Given the description of an element on the screen output the (x, y) to click on. 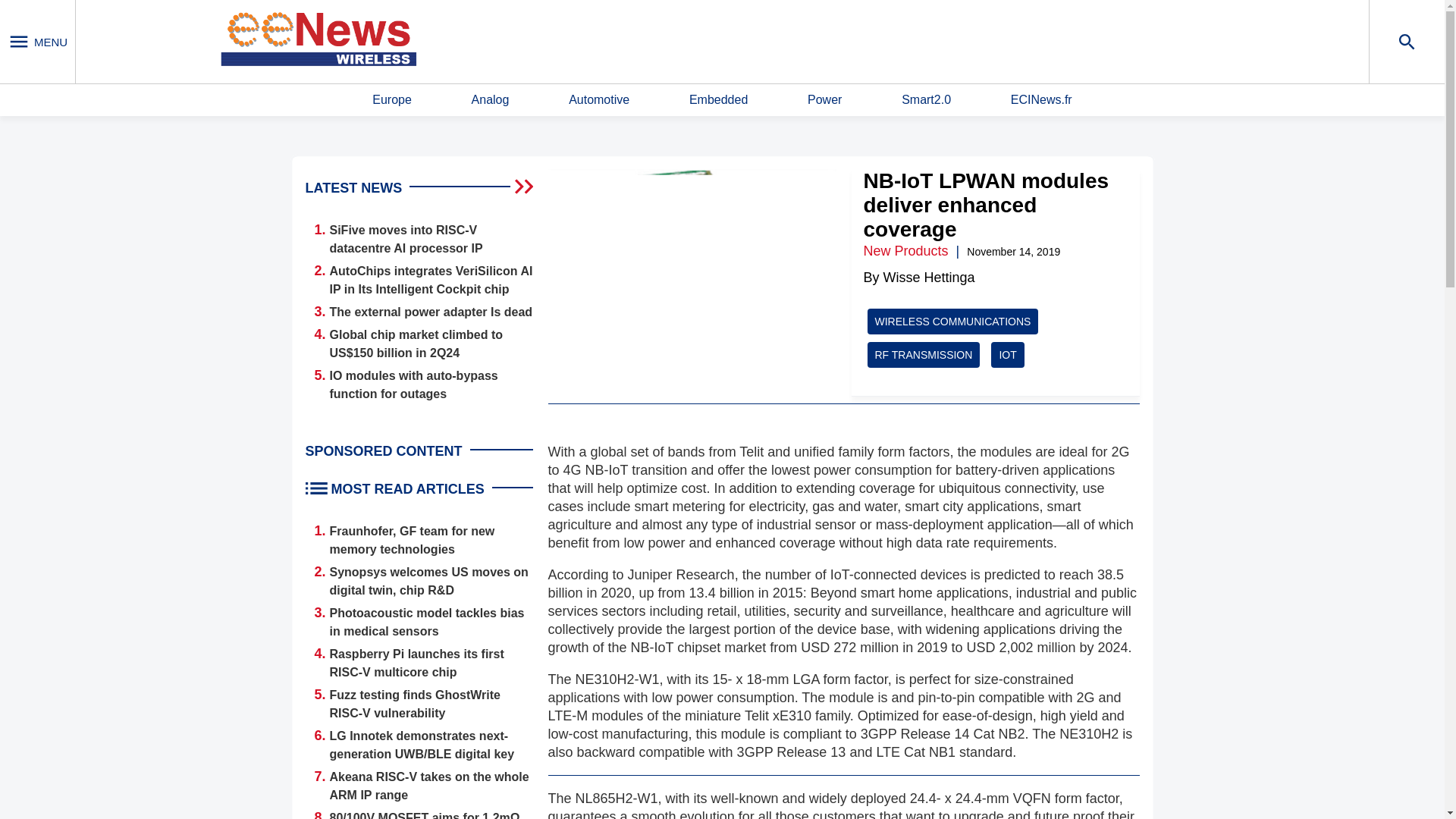
Analog (490, 99)
Embedded (718, 99)
Smart2.0 (925, 99)
ECINews.fr (1040, 99)
Europe (392, 99)
Automotive (598, 99)
Power (824, 99)
